Given the description of an element on the screen output the (x, y) to click on. 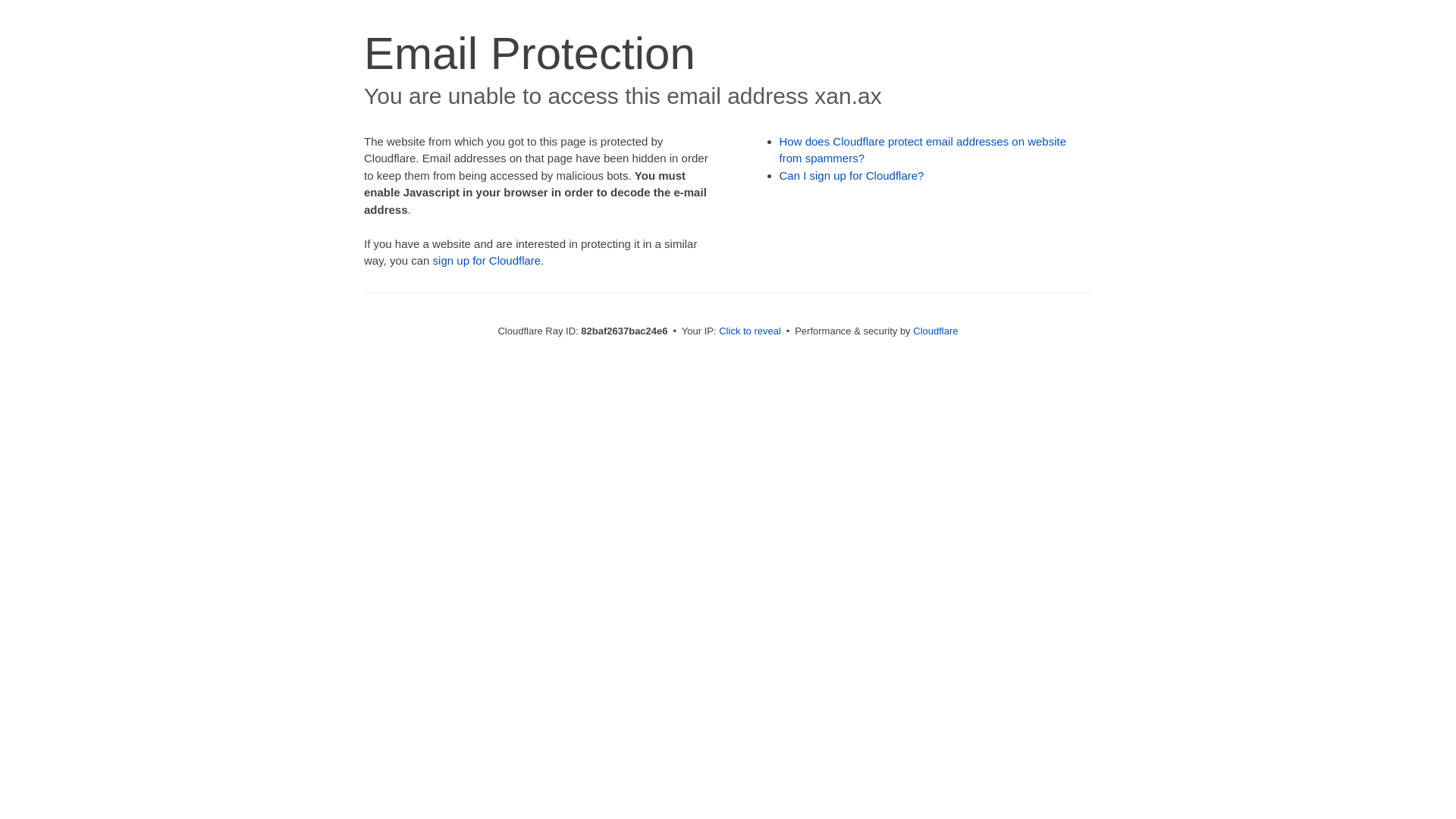
sign up for Cloudflare Element type: text (487, 260)
Cloudflare Element type: text (935, 330)
Click to reveal Element type: text (749, 330)
Can I sign up for Cloudflare? Element type: text (851, 175)
